Given the description of an element on the screen output the (x, y) to click on. 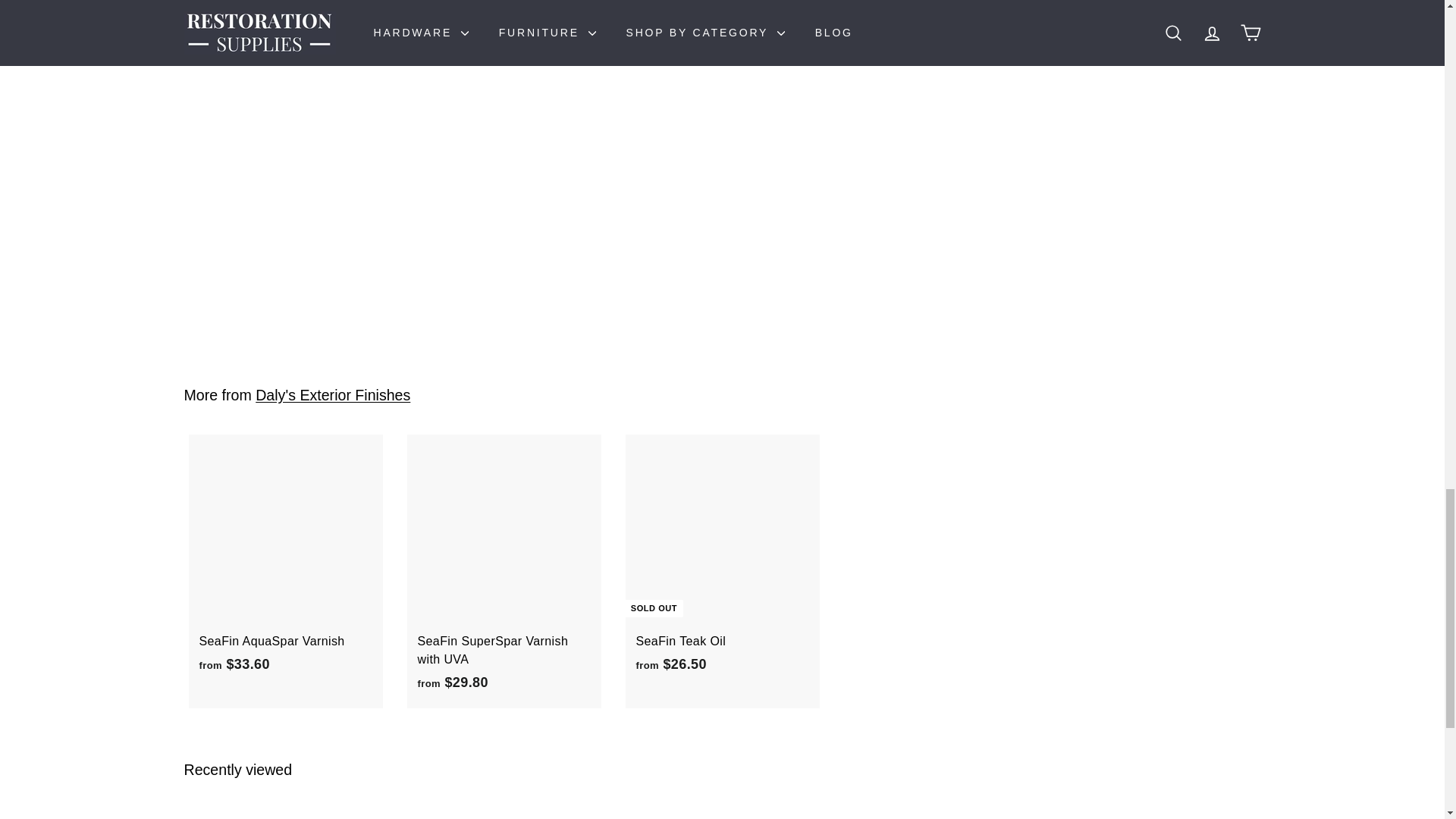
Daly's (275, 8)
